Given the description of an element on the screen output the (x, y) to click on. 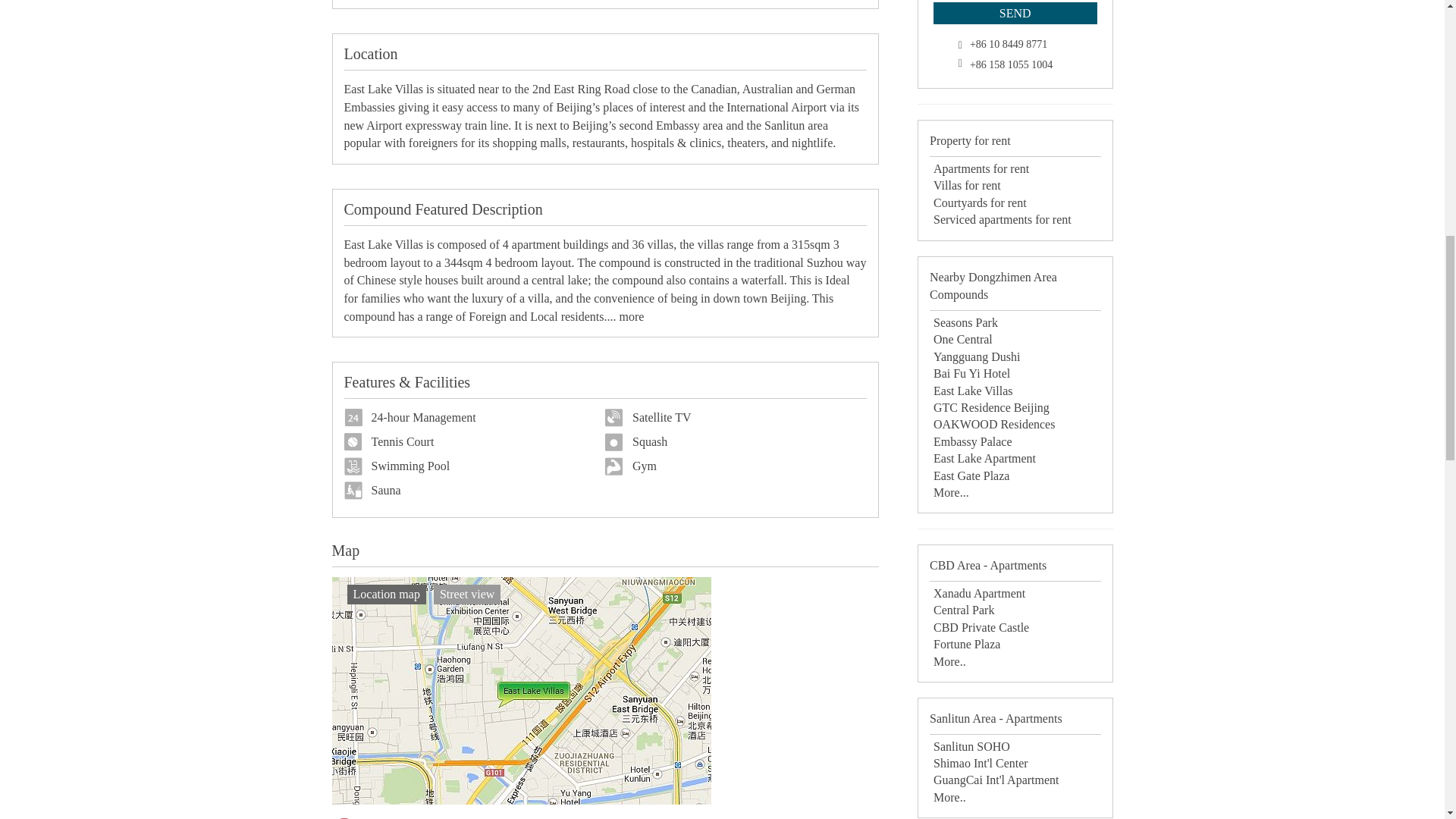
SEND (1015, 13)
